Given the description of an element on the screen output the (x, y) to click on. 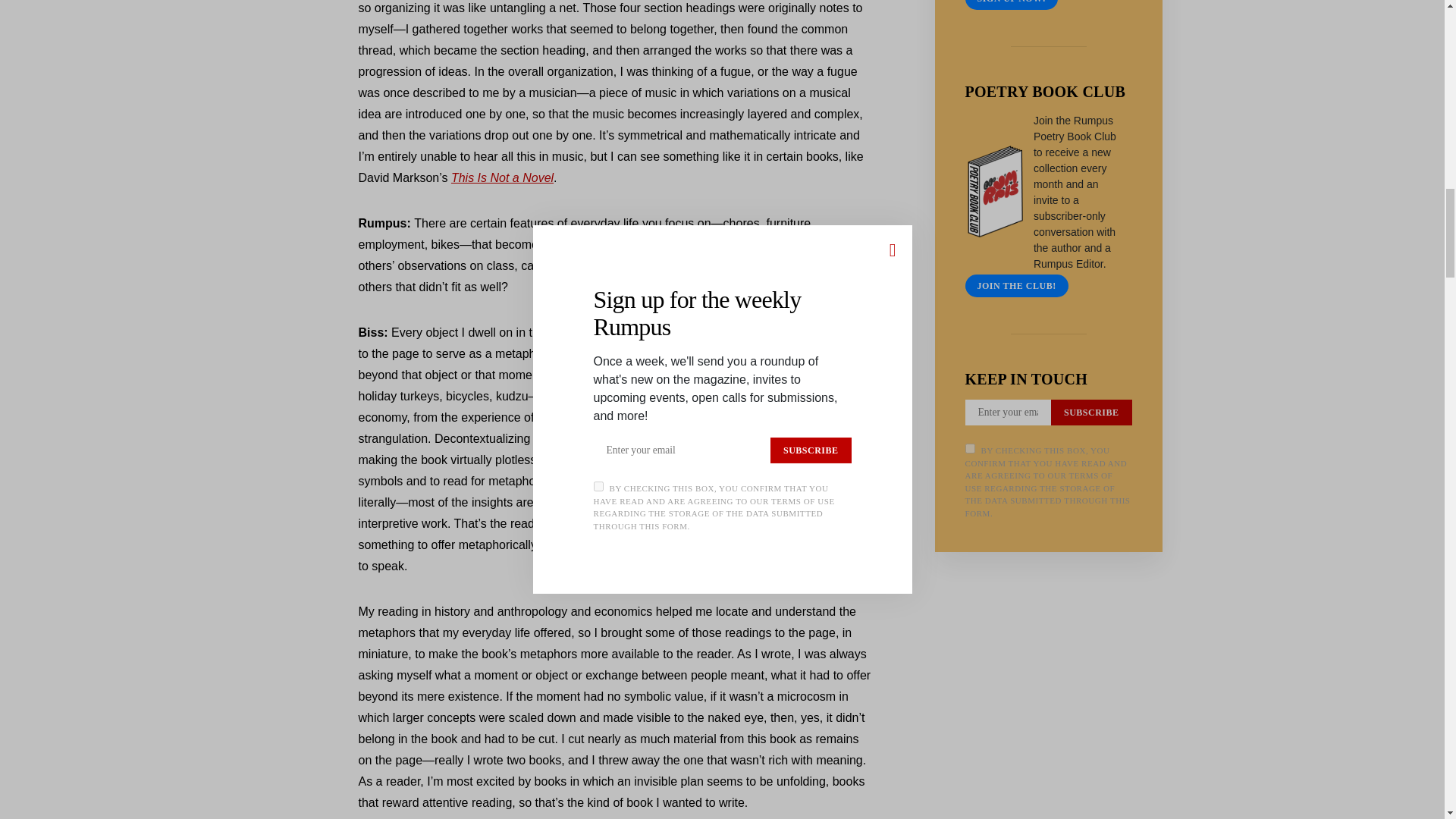
on (968, 448)
